Given the description of an element on the screen output the (x, y) to click on. 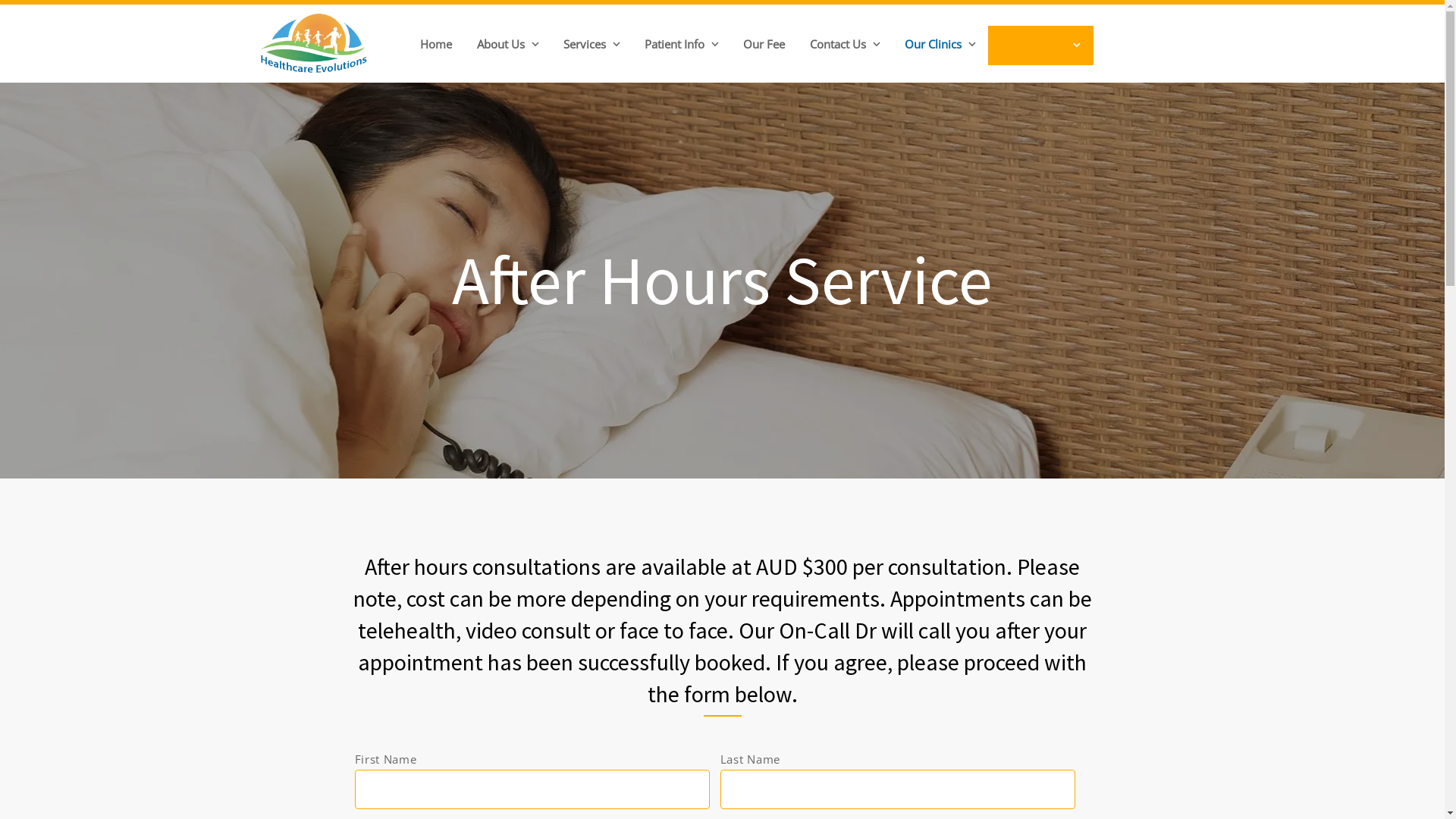
Patient Info Element type: text (681, 44)
Book Online Element type: text (1039, 45)
Our Clinics Element type: text (939, 44)
Home Element type: text (435, 44)
Services Element type: text (590, 44)
Contact Us Element type: text (844, 44)
Our Fee Element type: text (764, 44)
About Us Element type: text (507, 44)
